Given the description of an element on the screen output the (x, y) to click on. 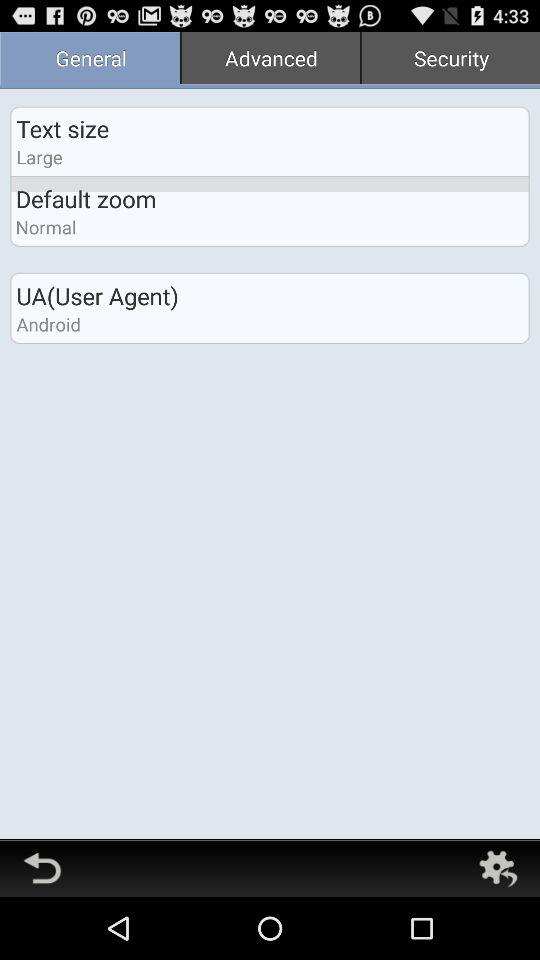
application settings (498, 868)
